Given the description of an element on the screen output the (x, y) to click on. 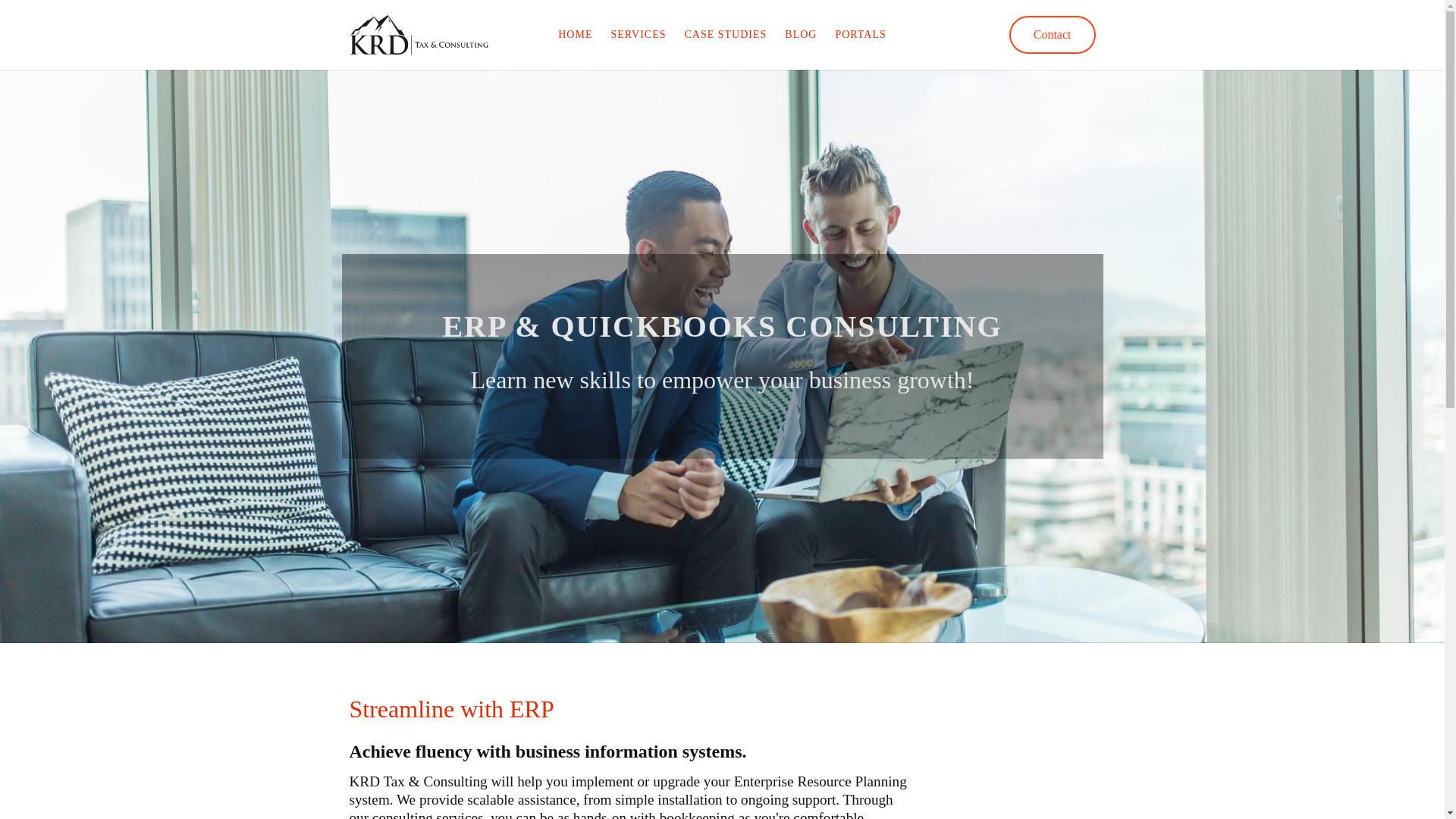
BLOG (800, 34)
PORTALS (859, 34)
SERVICES (637, 34)
HOME (574, 34)
Contact (1052, 34)
CASE STUDIES (725, 34)
